Given the description of an element on the screen output the (x, y) to click on. 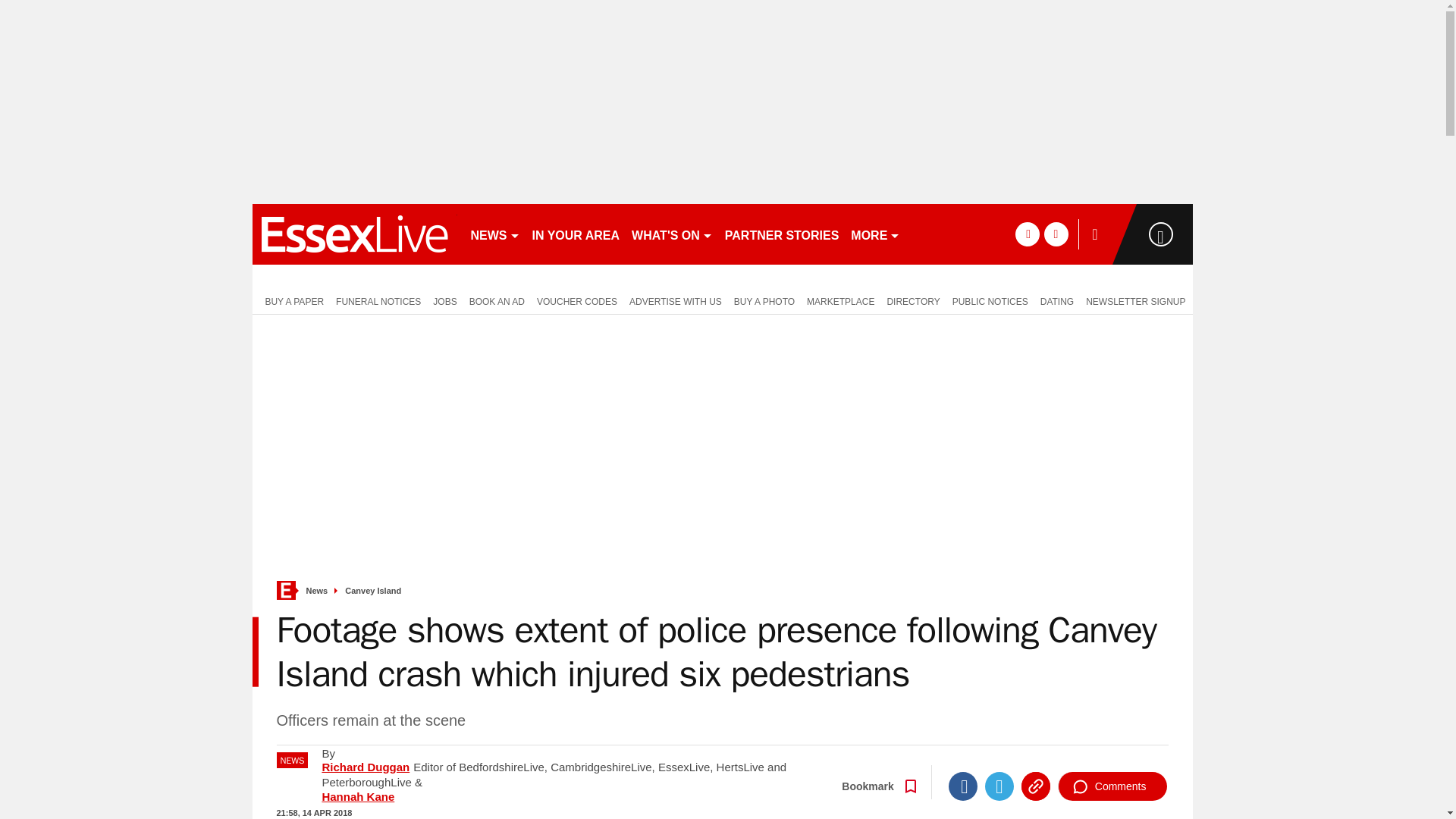
WHAT'S ON (672, 233)
MORE (874, 233)
PARTNER STORIES (782, 233)
twitter (1055, 233)
NEWS (494, 233)
essexlive (354, 233)
facebook (1026, 233)
Twitter (999, 786)
Comments (1112, 786)
IN YOUR AREA (575, 233)
